Given the description of an element on the screen output the (x, y) to click on. 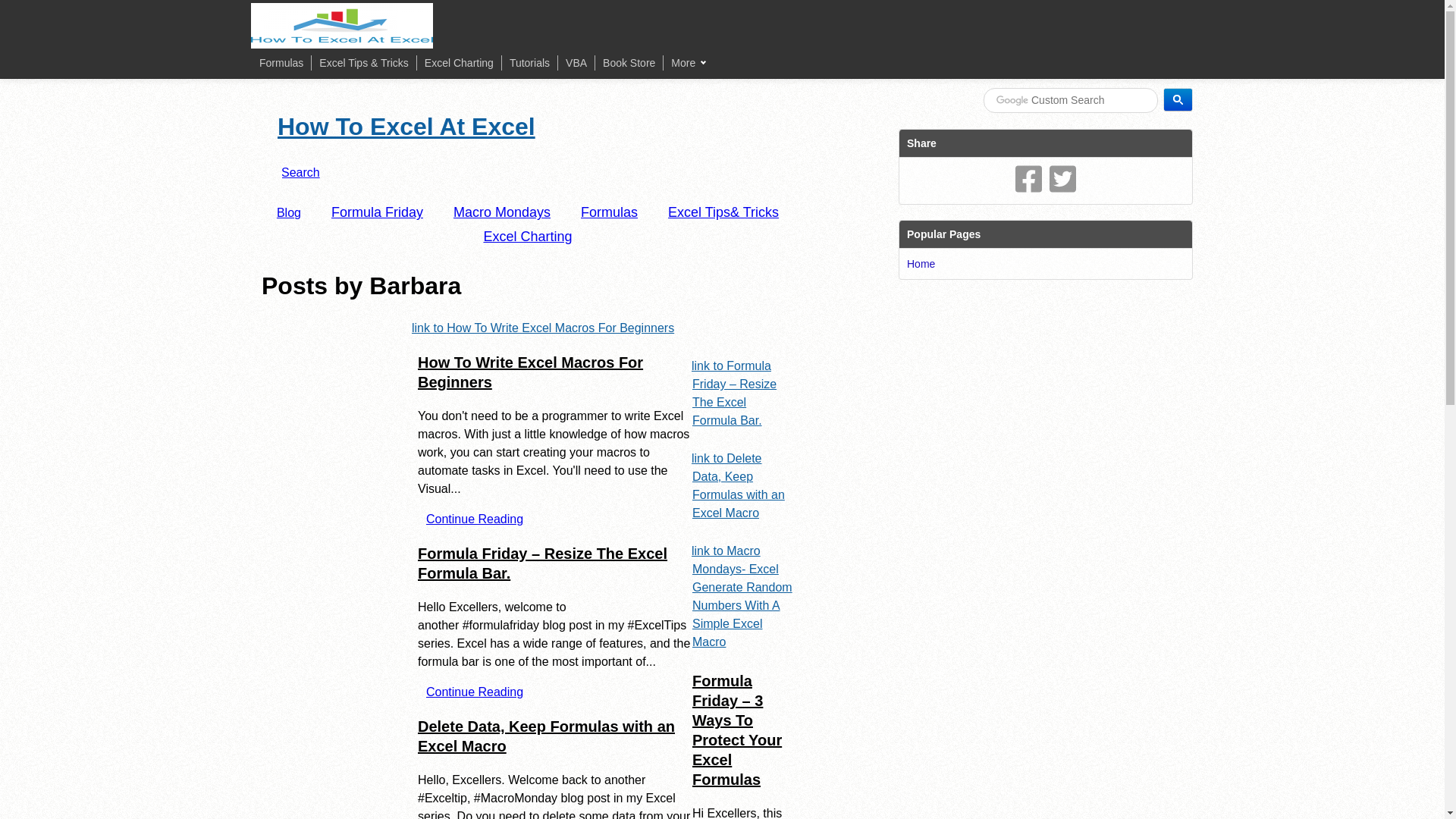
link to How To Write Excel Macros For Beginners (542, 327)
Search (300, 172)
More (687, 62)
link to Delete Data, Keep Formulas with an Excel Macro (738, 485)
Formula Friday (376, 212)
Tutorials (529, 62)
Continue Reading (474, 518)
Delete Data, Keep Formulas with an Excel Macro (546, 736)
Blog (288, 212)
Excel Charting (459, 62)
